Given the description of an element on the screen output the (x, y) to click on. 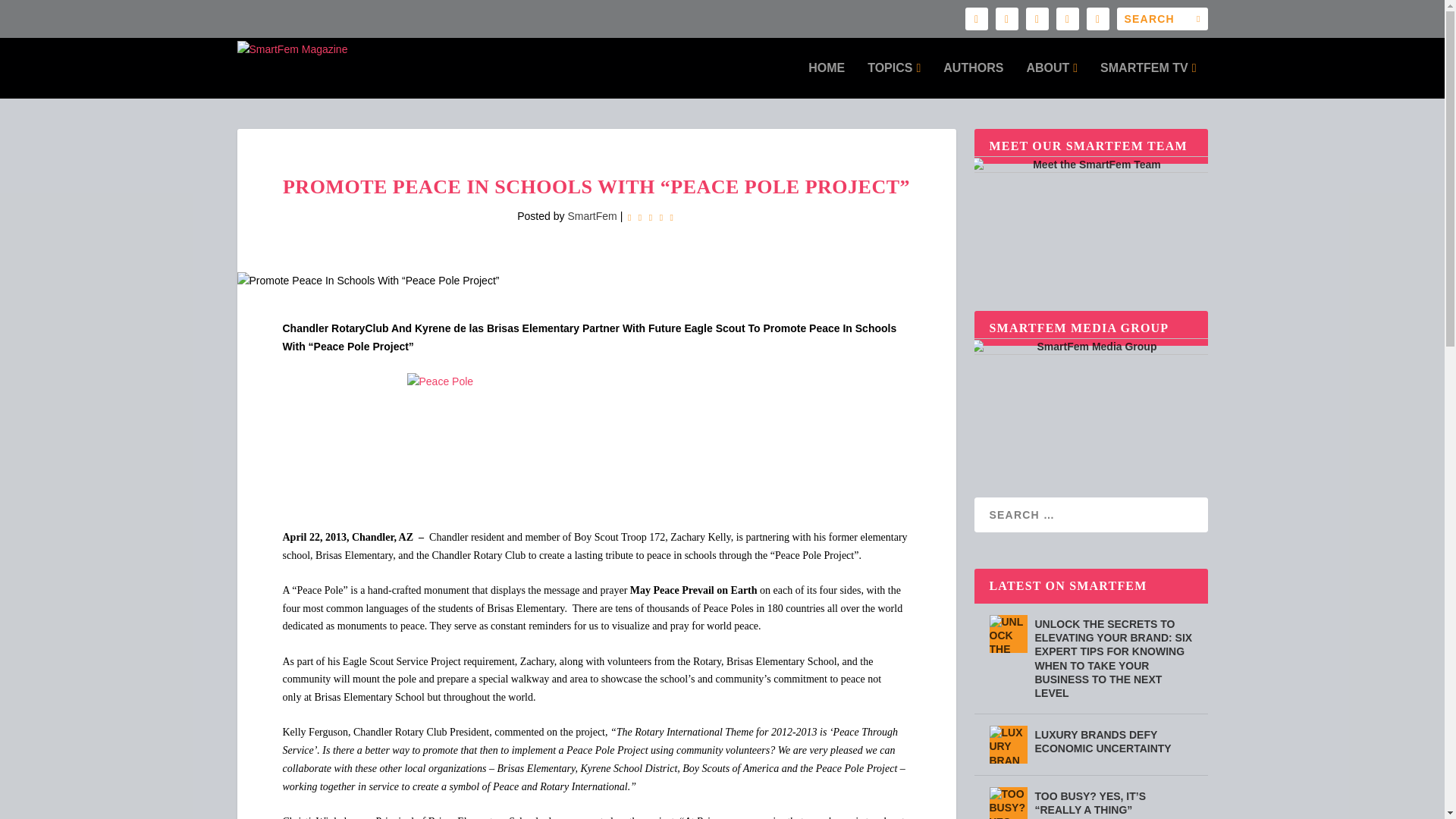
SmartFem (591, 215)
Search for: (1161, 18)
AUTHORS (973, 80)
Posts by SmartFem (591, 215)
TOPICS (893, 80)
ABOUT (1051, 80)
Rating: 0.00 (650, 217)
HOME (826, 80)
SMARTFEM TV (1147, 80)
